Given the description of an element on the screen output the (x, y) to click on. 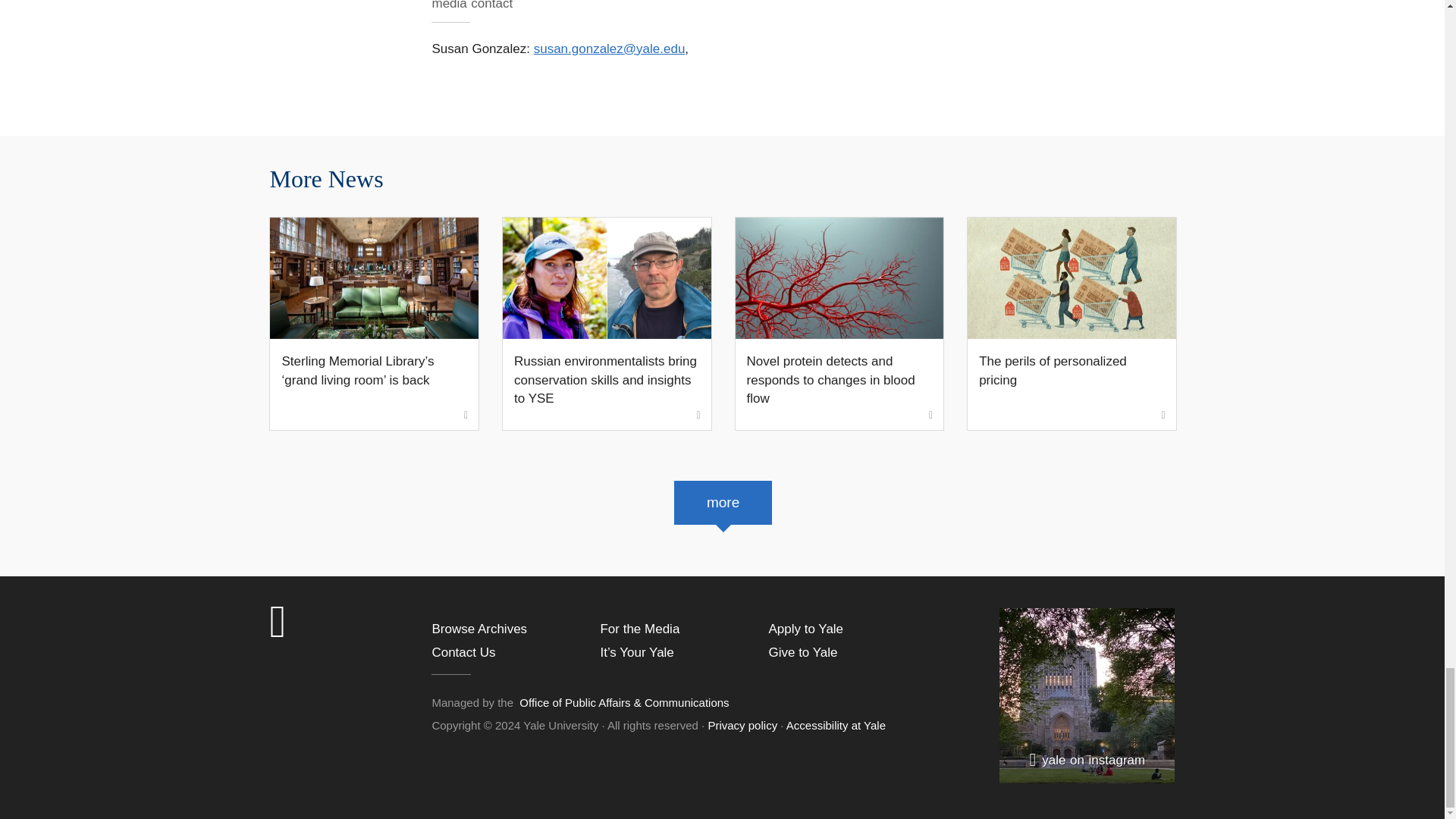
Yale Privacy policy (742, 725)
Accessibility at Yale (835, 725)
